Given the description of an element on the screen output the (x, y) to click on. 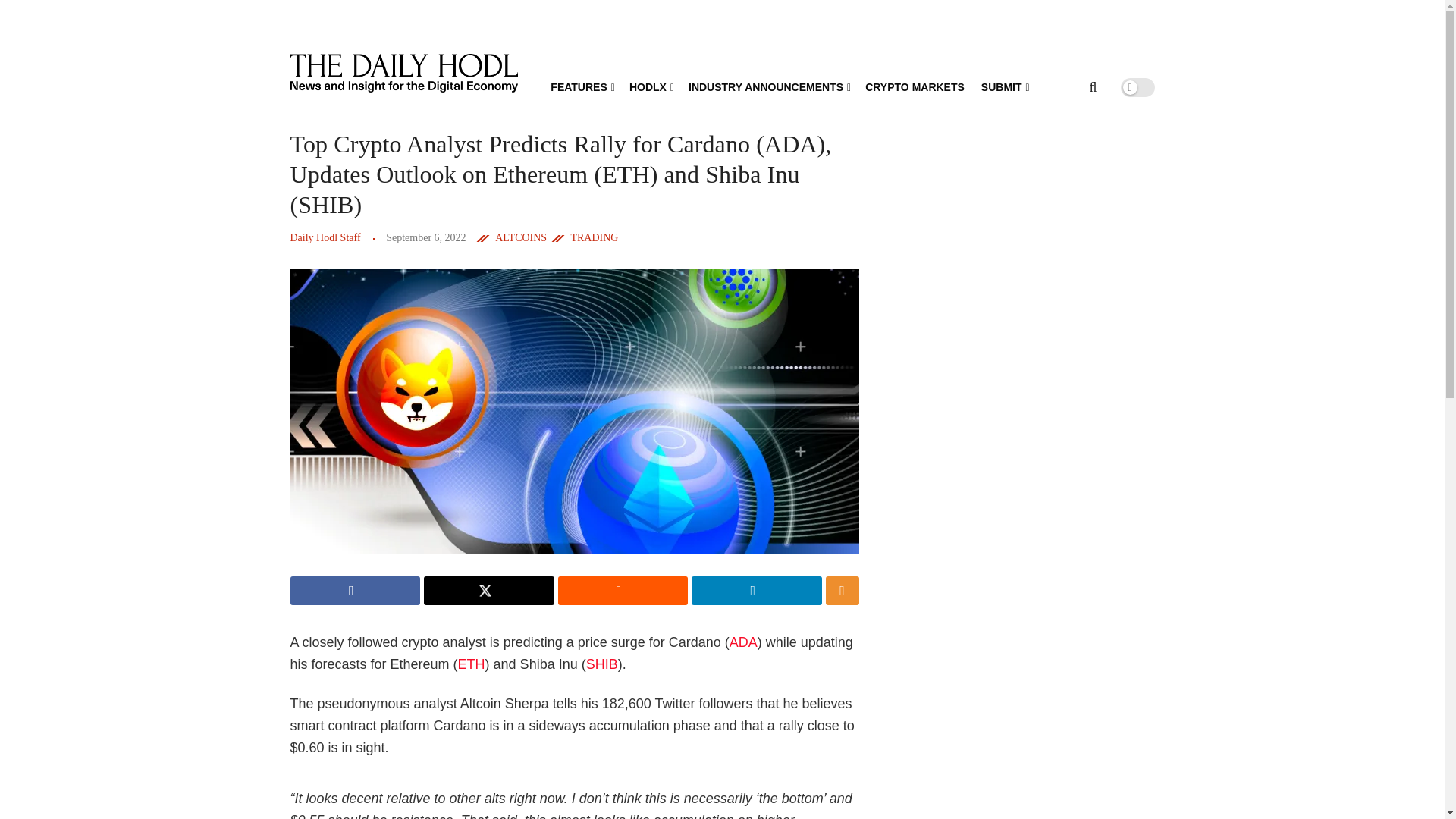
HODLX (649, 86)
INDUSTRY ANNOUNCEMENTS (768, 86)
SUBMIT (1004, 86)
FEATURES (581, 86)
CRYPTO MARKETS (913, 86)
